Given the description of an element on the screen output the (x, y) to click on. 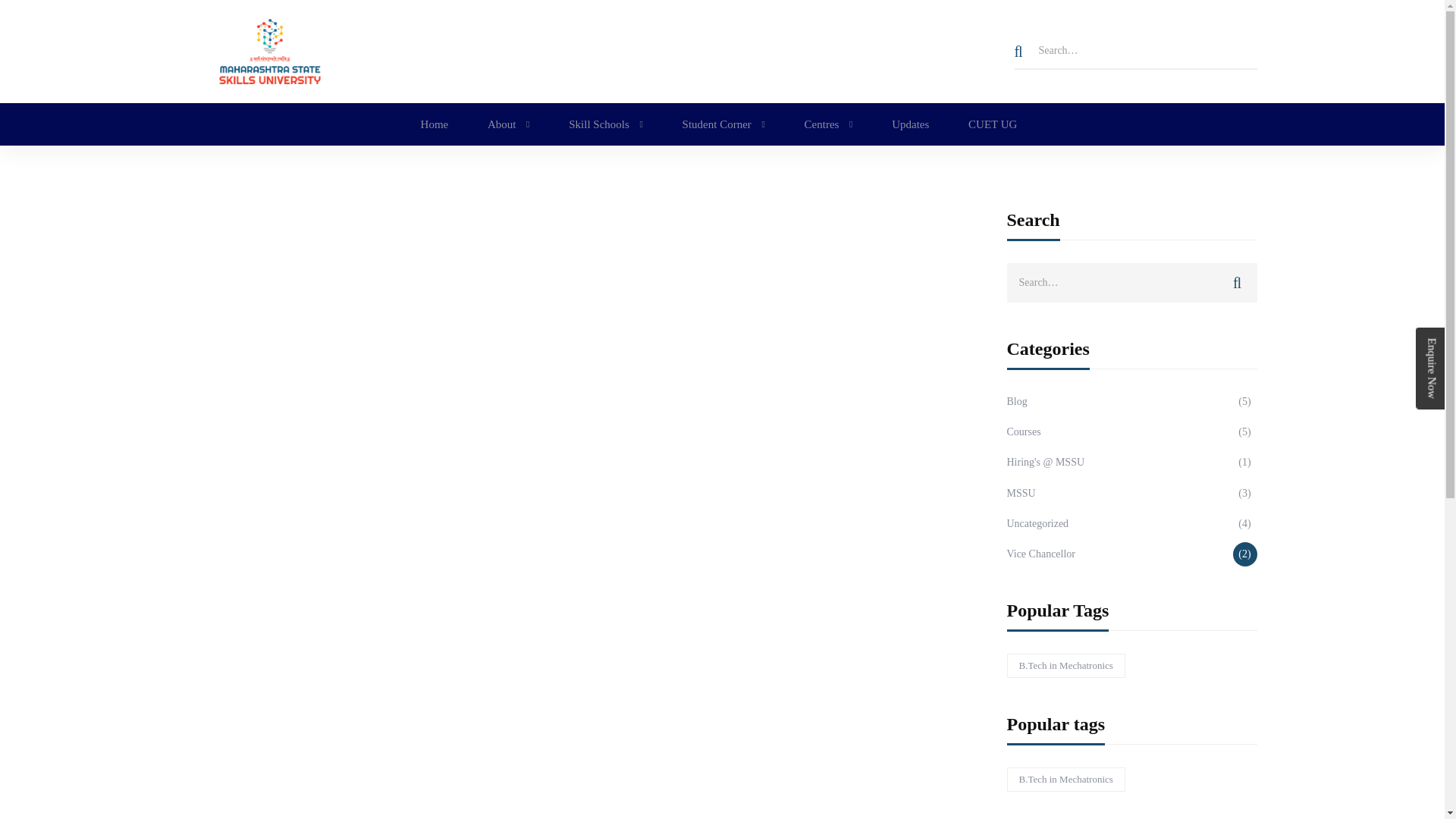
About (508, 124)
Search for: (1135, 51)
Search for: (1132, 282)
Centres (828, 124)
Home (435, 124)
Skill Schools (605, 124)
Student Corner (723, 124)
